Given the description of an element on the screen output the (x, y) to click on. 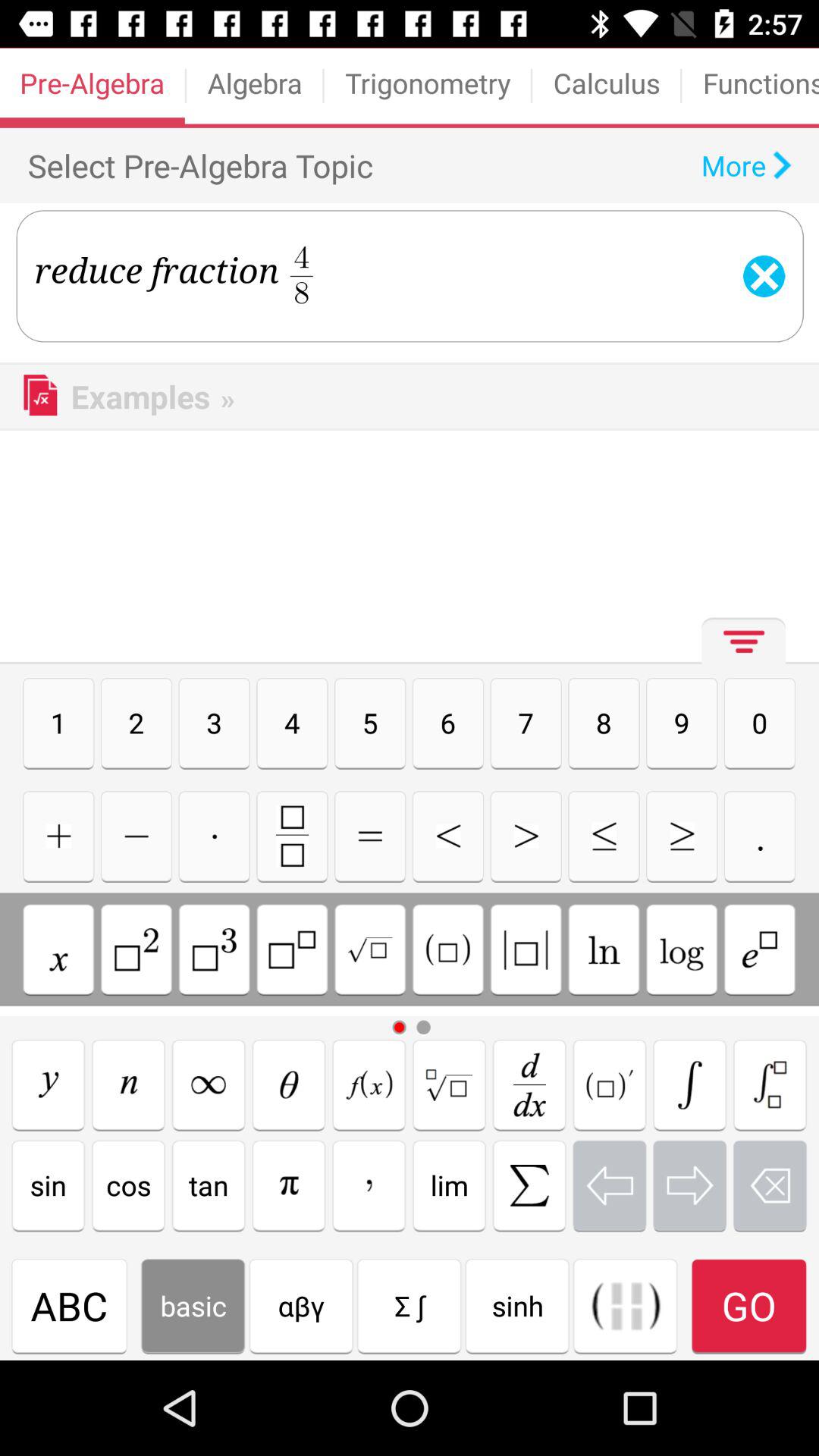
go back (609, 1185)
